Given the description of an element on the screen output the (x, y) to click on. 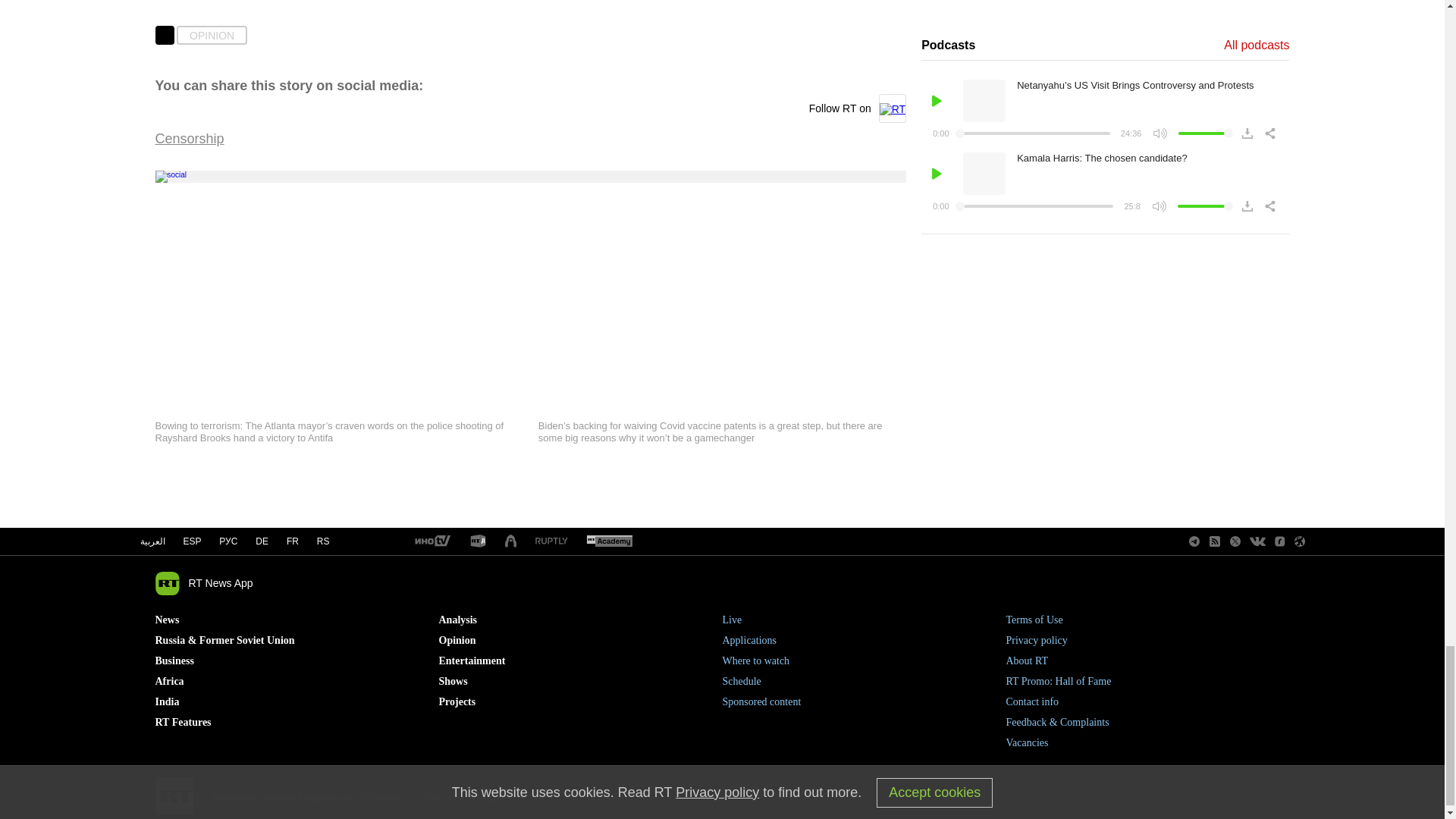
RT  (608, 541)
RT  (431, 541)
RT  (478, 541)
RT  (510, 541)
RT  (551, 541)
